Given the description of an element on the screen output the (x, y) to click on. 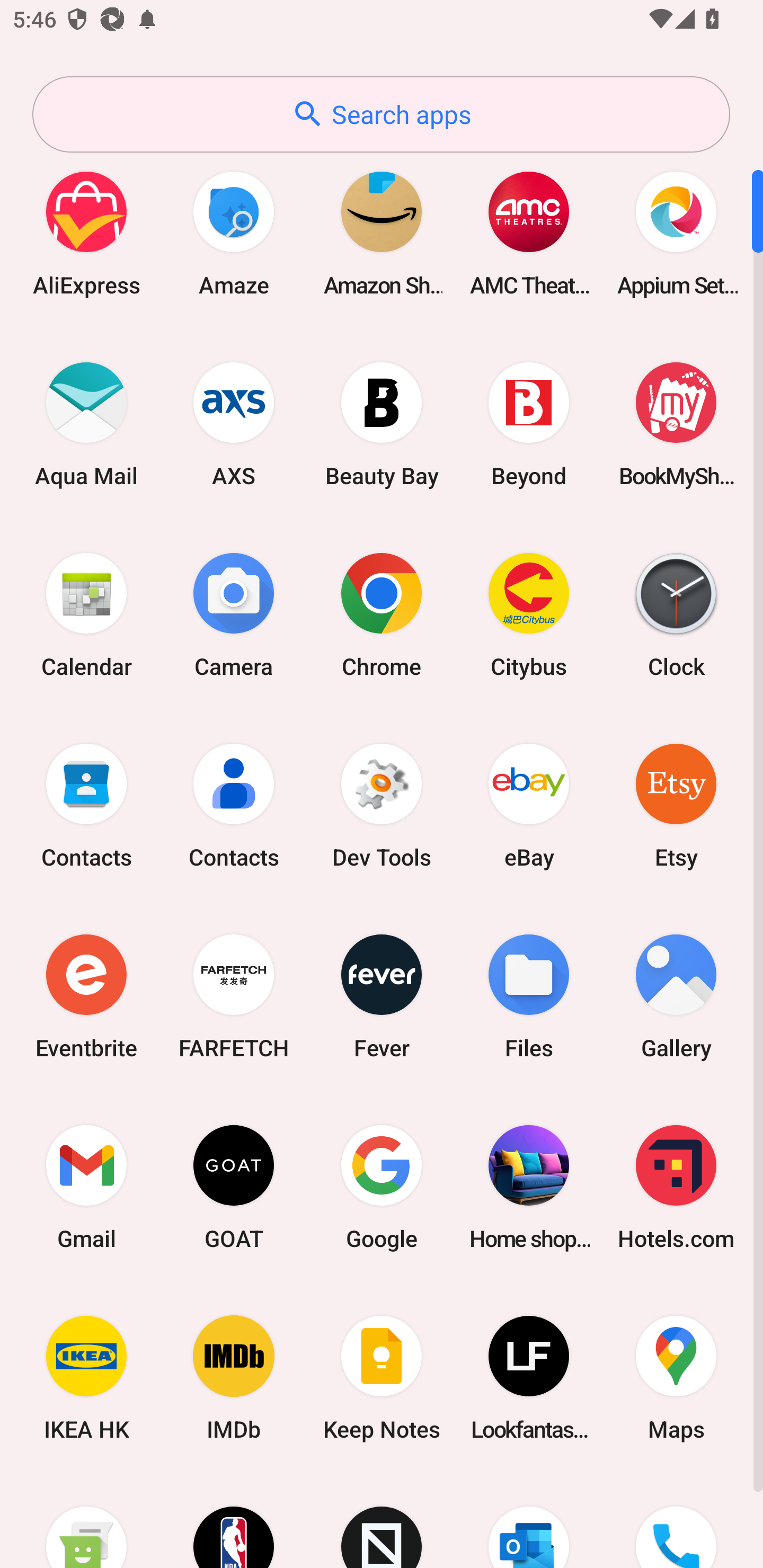
  Search apps (381, 114)
AliExpress (86, 233)
Amaze (233, 233)
Amazon Shopping (381, 233)
AMC Theatres (528, 233)
Appium Settings (676, 233)
Aqua Mail (86, 424)
AXS (233, 424)
Beauty Bay (381, 424)
Beyond (528, 424)
BookMyShow (676, 424)
Calendar (86, 614)
Camera (233, 614)
Chrome (381, 614)
Citybus (528, 614)
Clock (676, 614)
Contacts (86, 805)
Contacts (233, 805)
Dev Tools (381, 805)
eBay (528, 805)
Etsy (676, 805)
Eventbrite (86, 996)
FARFETCH (233, 996)
Fever (381, 996)
Files (528, 996)
Gallery (676, 996)
Gmail (86, 1186)
GOAT (233, 1186)
Google (381, 1186)
Home shopping (528, 1186)
Hotels.com (676, 1186)
IKEA HK (86, 1377)
IMDb (233, 1377)
Keep Notes (381, 1377)
Lookfantastic (528, 1377)
Maps (676, 1377)
